Given the description of an element on the screen output the (x, y) to click on. 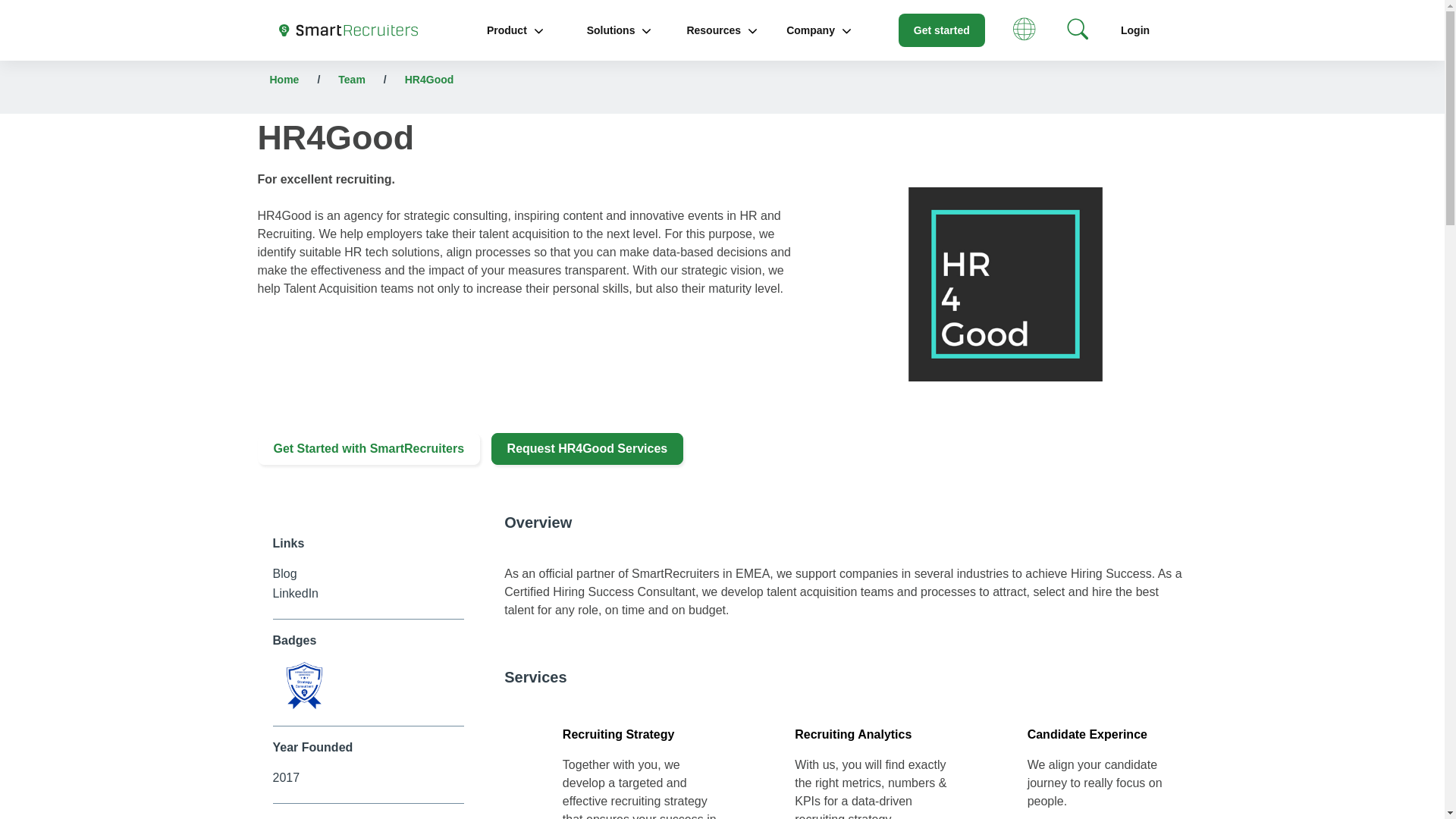
Product (514, 30)
Resources (721, 30)
Get started (941, 29)
Solutions (619, 30)
Company (818, 30)
